Given the description of an element on the screen output the (x, y) to click on. 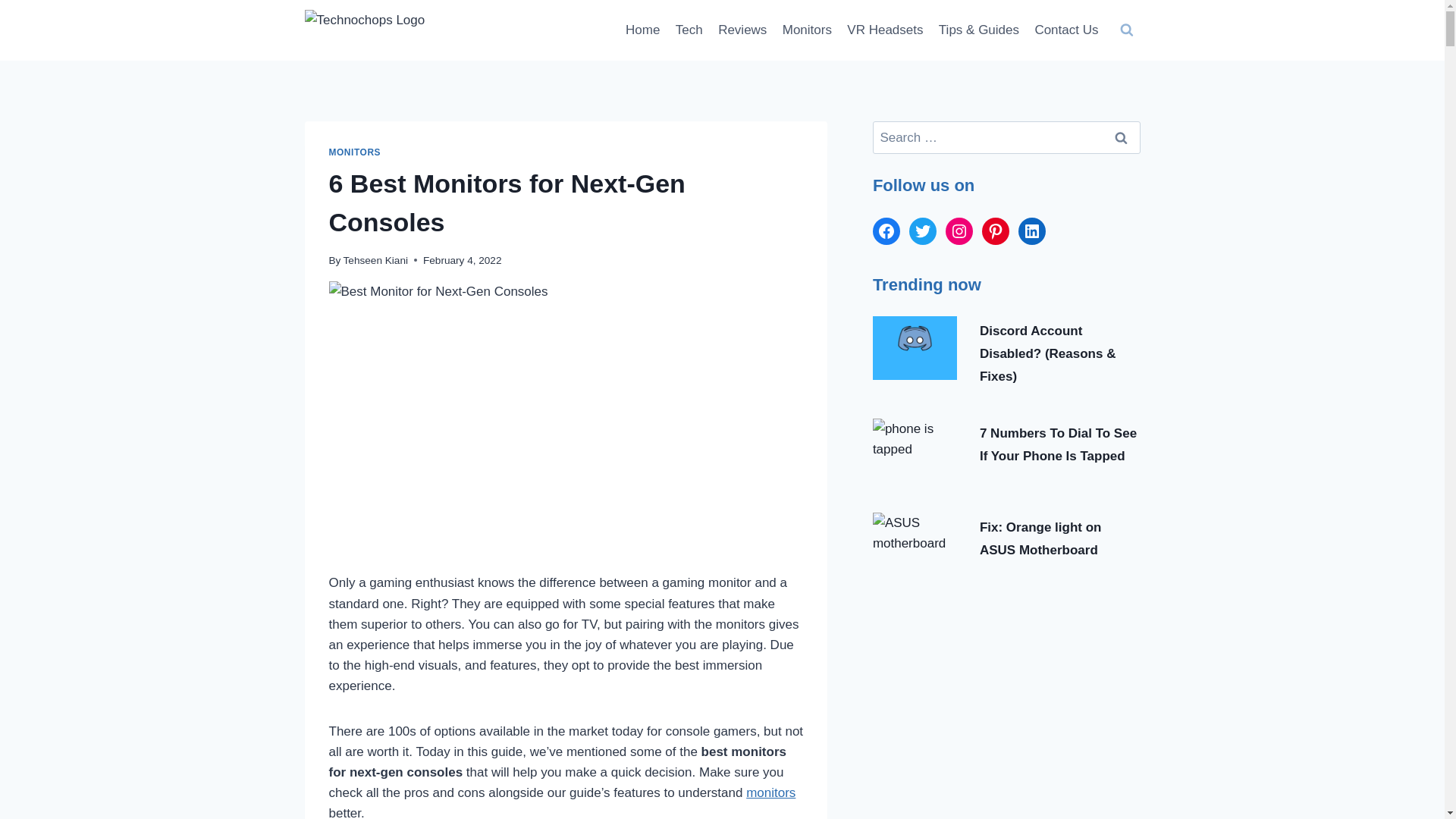
monitors (769, 792)
Home (642, 30)
Monitors (807, 30)
Reviews (742, 30)
VR Headsets (885, 30)
Tehseen Kiani (375, 260)
Tech (689, 30)
Search (1121, 137)
Contact Us (1065, 30)
Search (1121, 137)
MONITORS (355, 152)
